Given the description of an element on the screen output the (x, y) to click on. 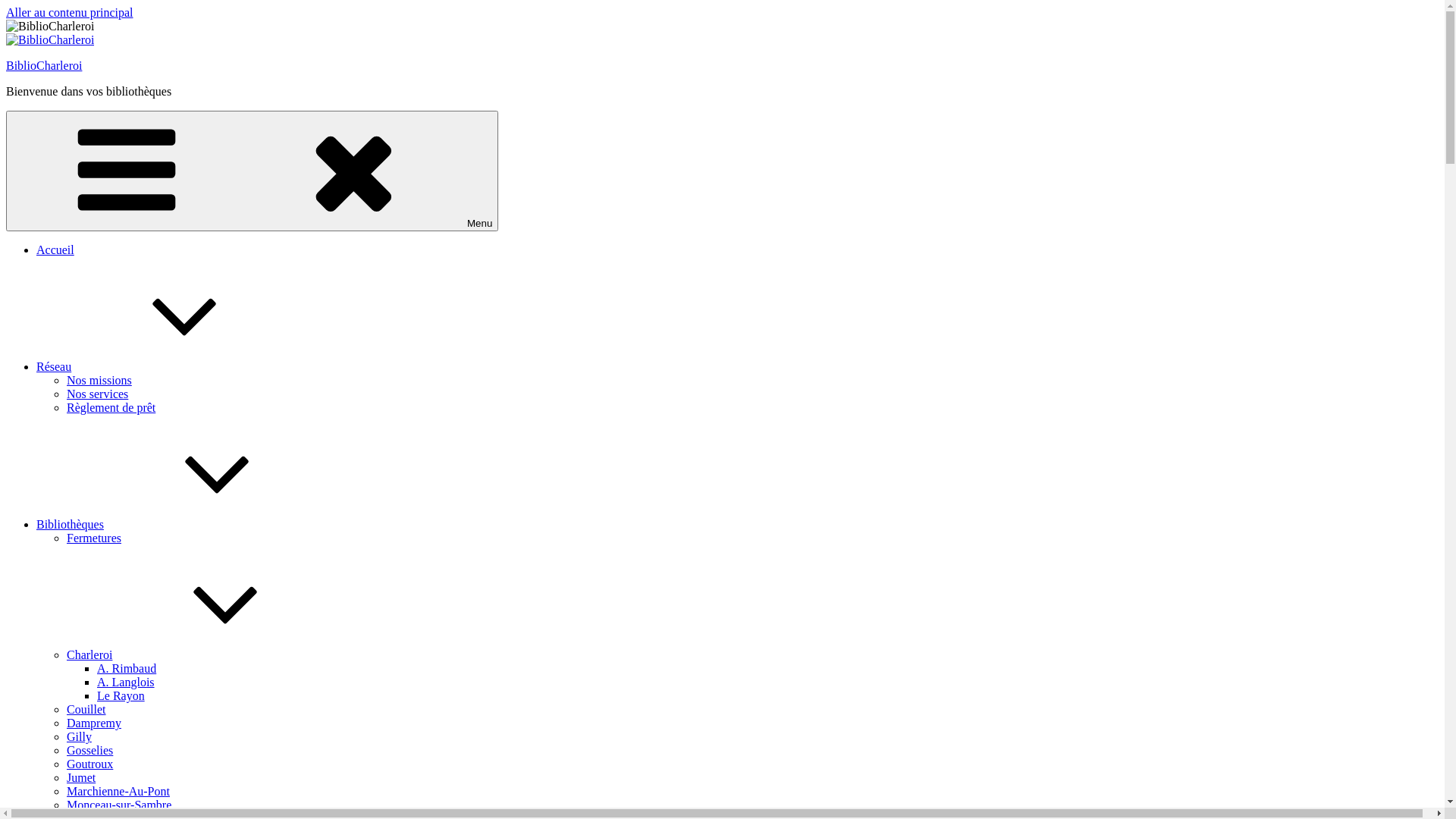
Dampremy Element type: text (93, 722)
Goutroux Element type: text (89, 763)
Le Rayon Element type: text (120, 695)
Accueil Element type: text (55, 249)
Gosselies Element type: text (89, 749)
Charleroi Element type: text (202, 654)
Gilly Element type: text (78, 736)
Marchienne-Au-Pont Element type: text (117, 790)
Jumet Element type: text (80, 777)
Nos services Element type: text (97, 393)
BiblioCharleroi Element type: text (43, 65)
A. Rimbaud Element type: text (126, 668)
Menu Element type: text (252, 170)
A. Langlois Element type: text (125, 681)
Nos missions Element type: text (98, 379)
Monceau-sur-Sambre Element type: text (118, 804)
Couillet Element type: text (86, 708)
Aller au contenu principal Element type: text (69, 12)
Fermetures Element type: text (93, 537)
